Given the description of an element on the screen output the (x, y) to click on. 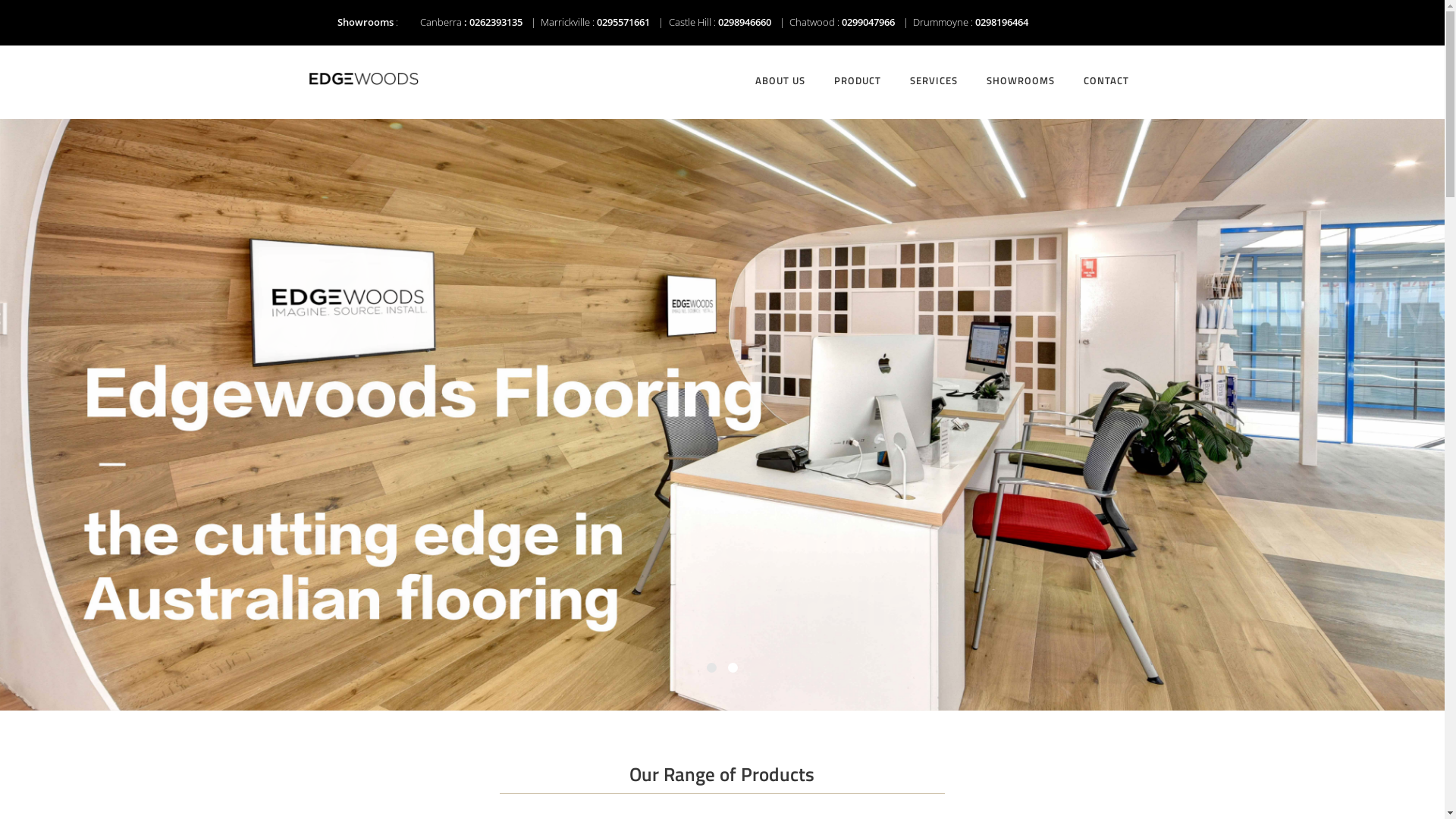
SHOWROOMS Element type: text (1015, 61)
PRODUCT Element type: text (853, 61)
SERVICES Element type: text (929, 61)
ABOUT US Element type: text (776, 61)
CONTACT Element type: text (1101, 61)
